Given the description of an element on the screen output the (x, y) to click on. 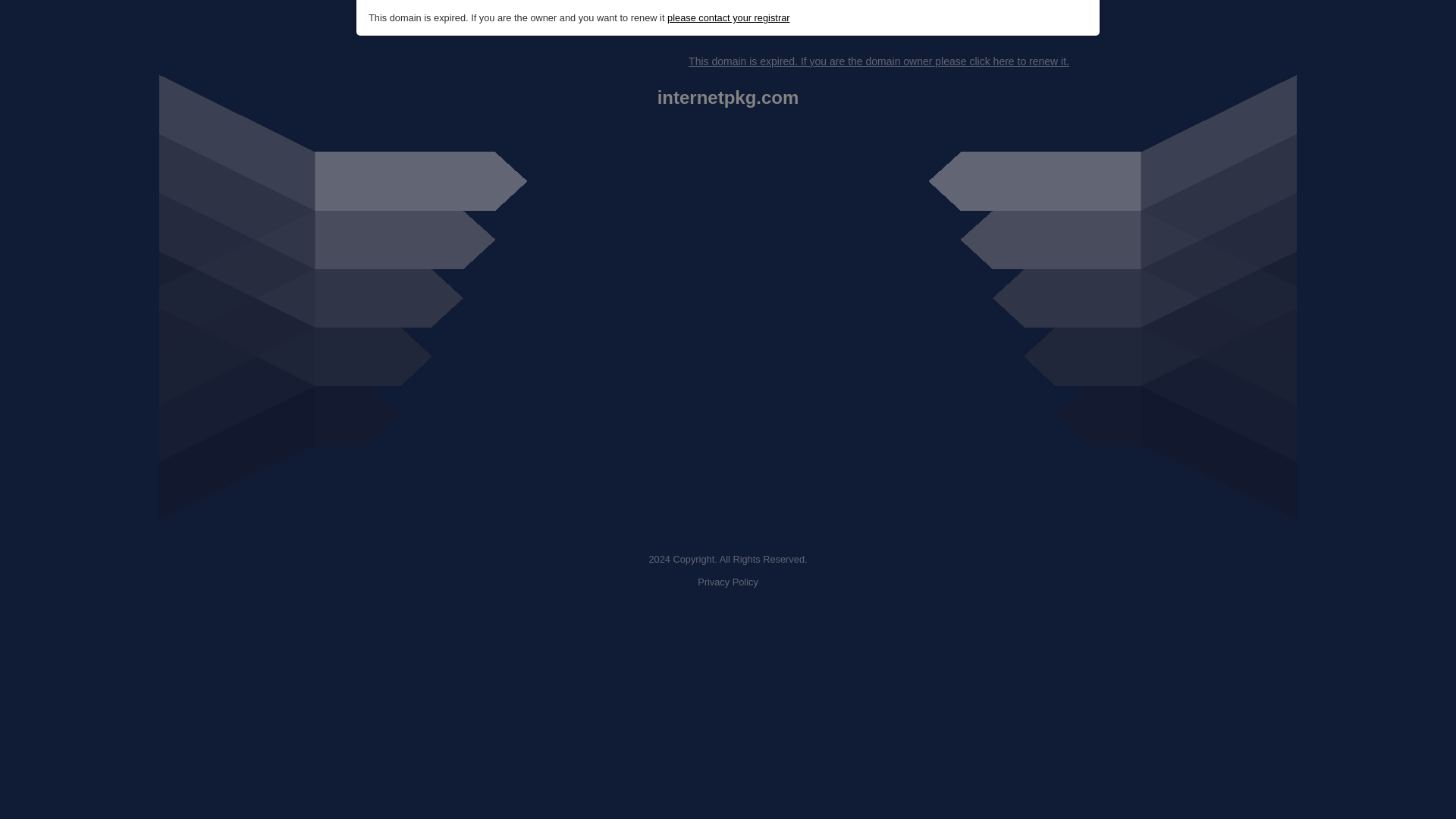
Privacy Policy (727, 582)
please contact your registrar (727, 17)
